Given the description of an element on the screen output the (x, y) to click on. 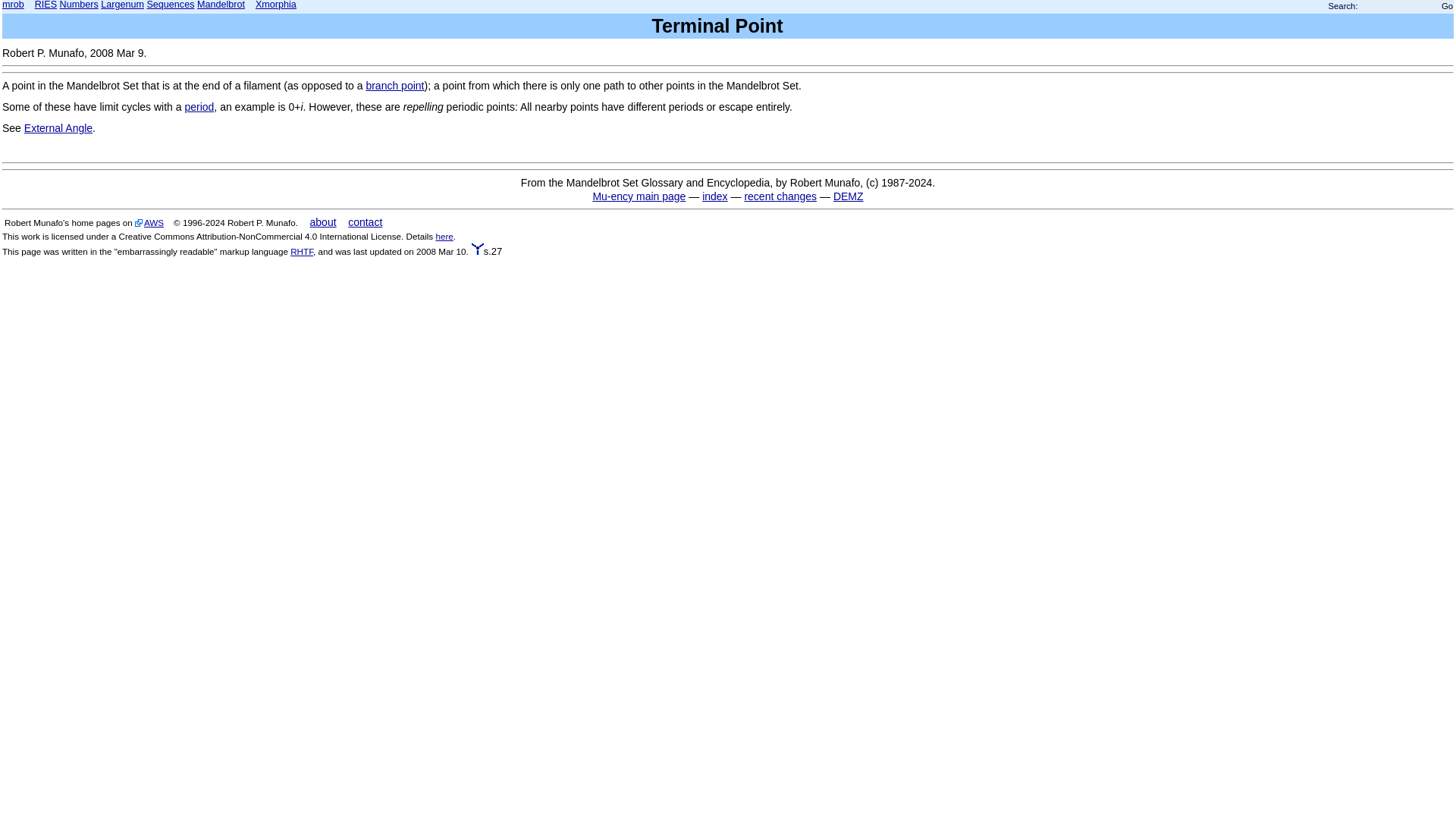
RHTF (301, 251)
RIES (45, 4)
Xmorphia (276, 4)
AWS (149, 222)
index (713, 196)
External Angle (58, 128)
Sequences (170, 4)
recent changes (780, 196)
branch point (394, 85)
Numbers (79, 4)
DEMZ (847, 196)
mrob (13, 4)
Largenum (122, 4)
here (443, 235)
period (199, 106)
